Given the description of an element on the screen output the (x, y) to click on. 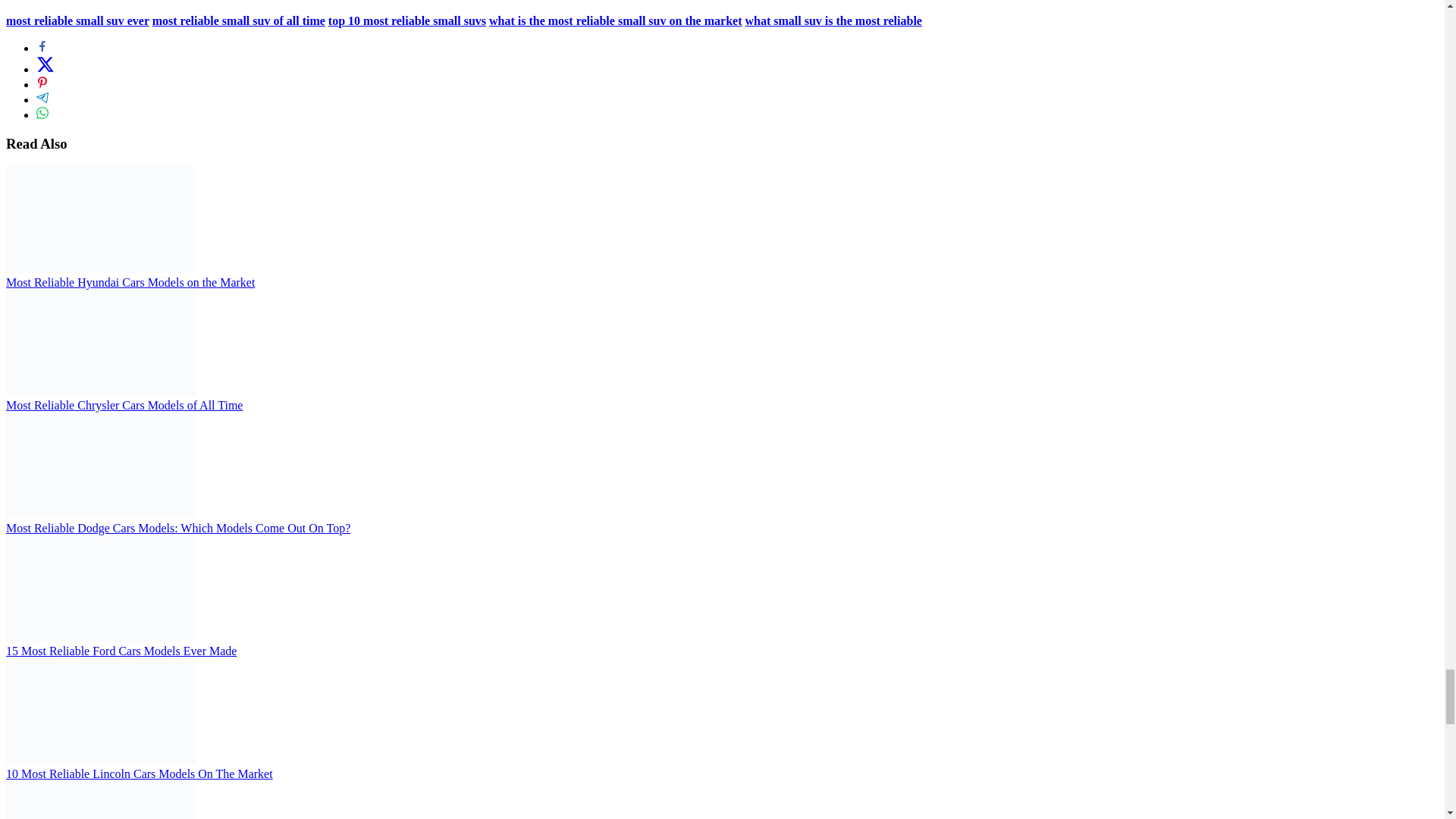
top 10 most reliable small suvs (407, 20)
what is the most reliable small suv on the market (615, 20)
most reliable small suv ever (77, 20)
most reliable small suv of all time (238, 20)
what small suv is the most reliable (832, 20)
